Given the description of an element on the screen output the (x, y) to click on. 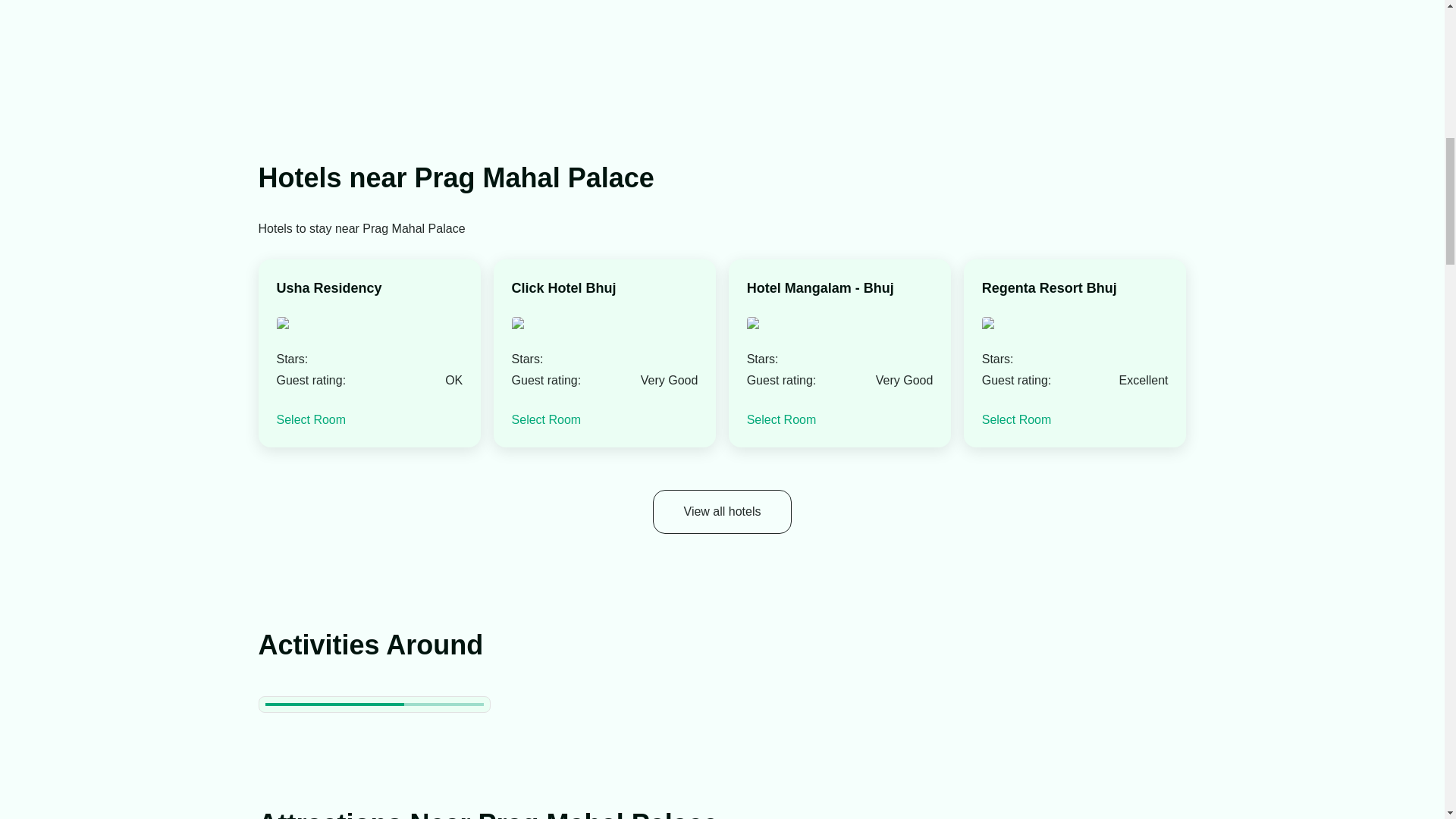
Usha Residency (328, 287)
Select Room (1016, 419)
Select Room (546, 419)
Regenta Resort Bhuj (1048, 287)
Hotel Mangalam - Bhuj (819, 287)
Select Room (311, 419)
View all hotels (722, 511)
Select Room (781, 419)
Click Hotel Bhuj (563, 287)
